Given the description of an element on the screen output the (x, y) to click on. 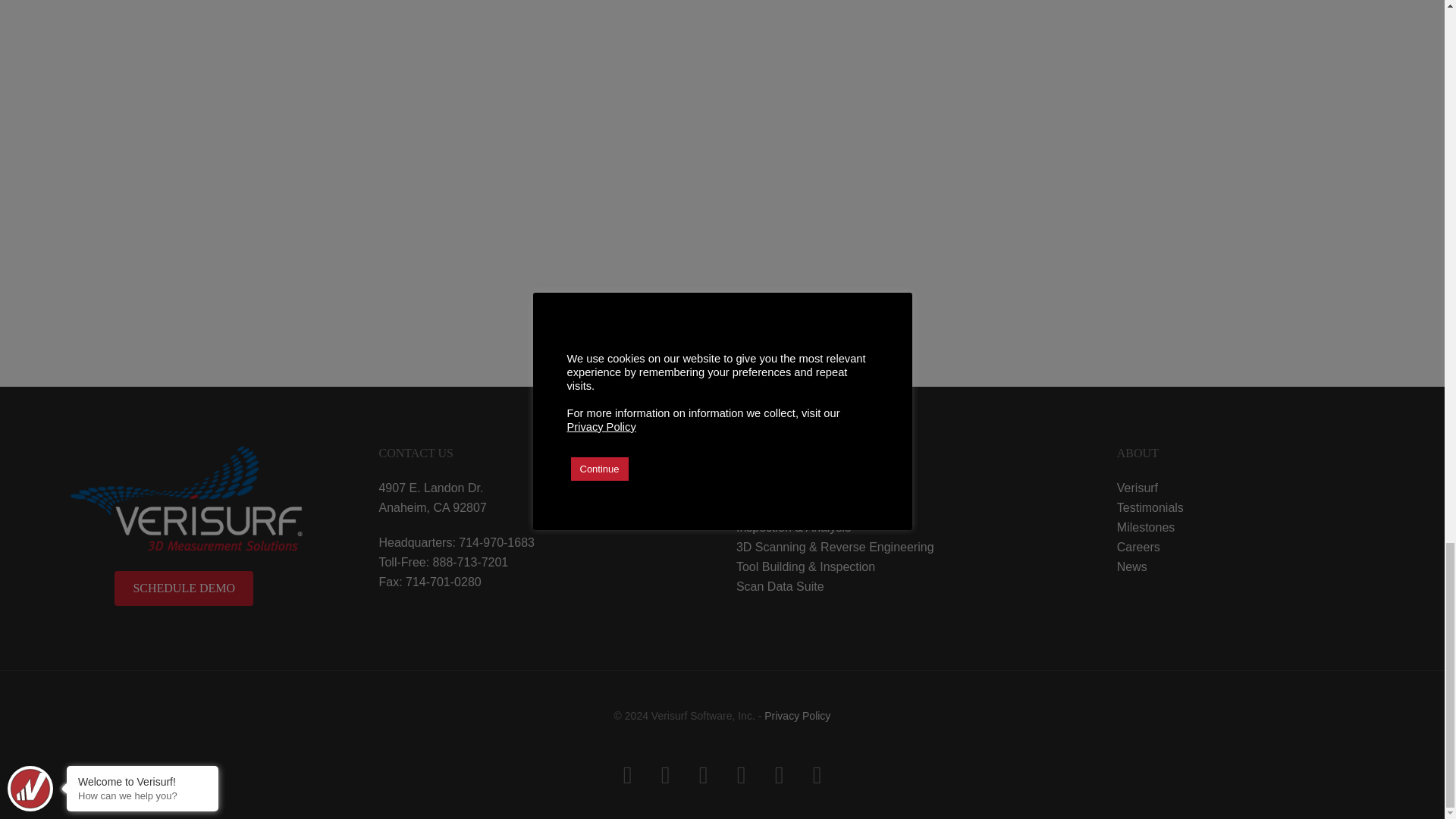
Verisurf University Overview (721, 48)
footer-logo-verisurf (185, 498)
